Given the description of an element on the screen output the (x, y) to click on. 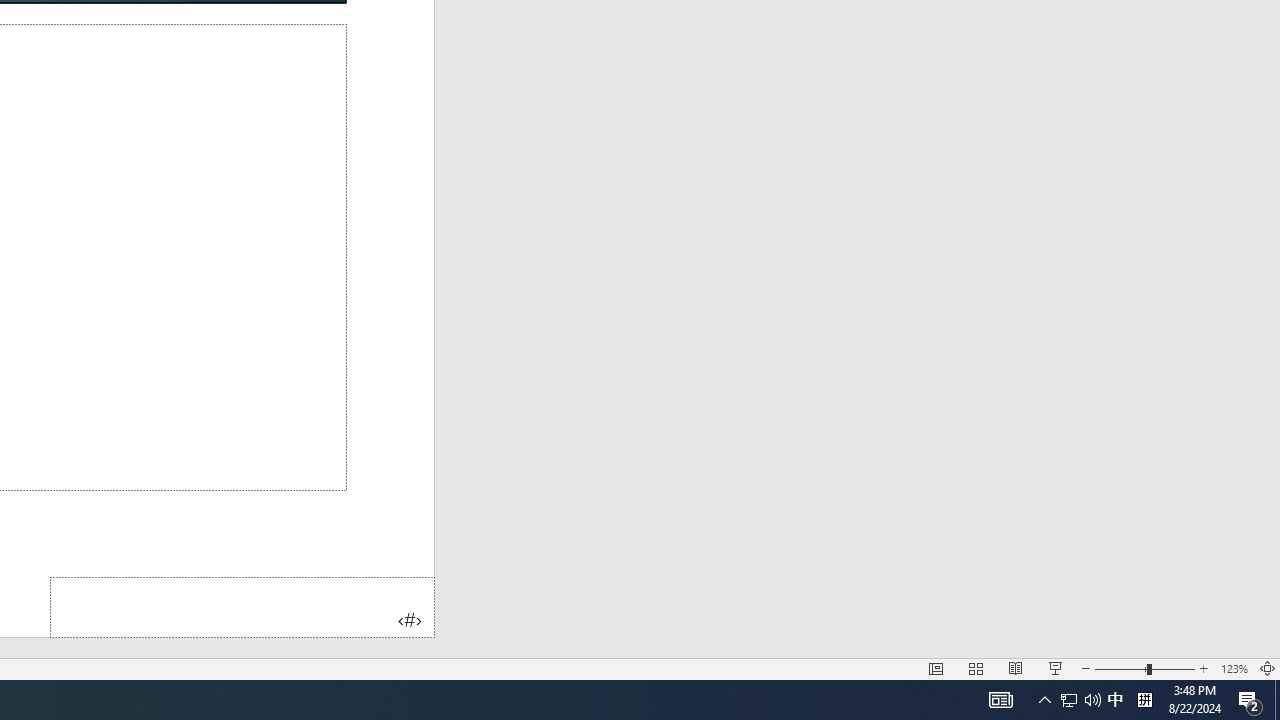
Page Number (242, 606)
Zoom 123% (1234, 668)
